Given the description of an element on the screen output the (x, y) to click on. 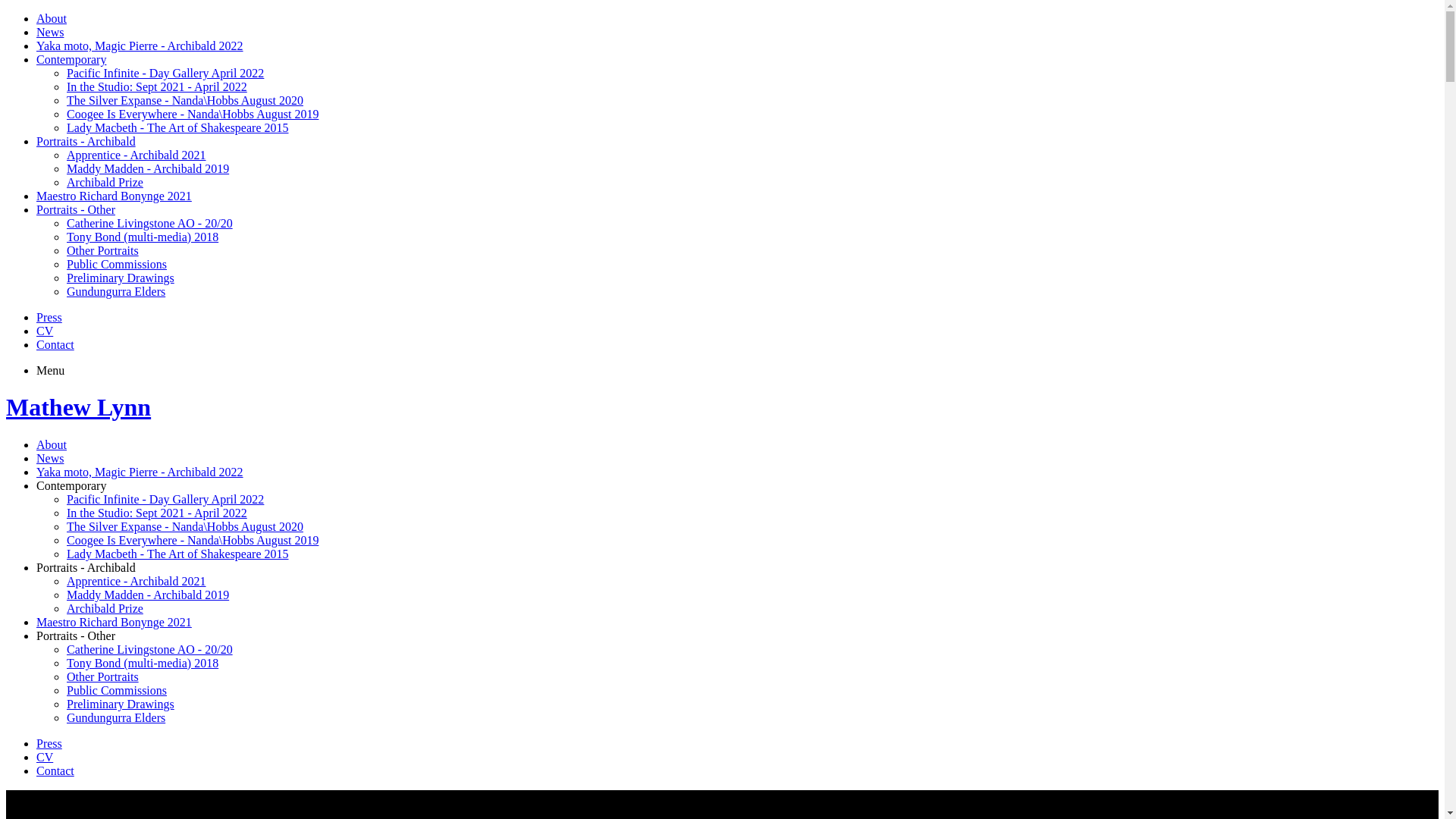
About Element type: text (51, 444)
Portraits - Other Element type: text (75, 209)
Pacific Infinite - Day Gallery April 2022 Element type: text (164, 72)
Portraits - Other Element type: text (75, 635)
Contemporary Element type: text (71, 59)
Public Commissions Element type: text (116, 263)
Tony Bond (multi-media) 2018 Element type: text (142, 236)
Menu Element type: text (50, 370)
Public Commissions Element type: text (116, 690)
In the Studio: Sept 2021 - April 2022 Element type: text (156, 512)
Gundungurra Elders Element type: text (115, 291)
Contemporary Element type: text (71, 485)
CV Element type: text (44, 330)
The Silver Expanse - Nanda\Hobbs August 2020 Element type: text (184, 100)
Other Portraits Element type: text (102, 676)
Mathew Lynn Element type: text (78, 406)
Other Portraits Element type: text (102, 250)
Catherine Livingstone AO - 20/20 Element type: text (149, 222)
Coogee Is Everywhere - Nanda\Hobbs August 2019 Element type: text (192, 539)
Preliminary Drawings Element type: text (120, 277)
Press Element type: text (49, 316)
Maestro Richard Bonynge 2021 Element type: text (113, 621)
Portraits - Archibald Element type: text (85, 140)
In the Studio: Sept 2021 - April 2022 Element type: text (156, 86)
Apprentice - Archibald 2021 Element type: text (136, 580)
Lady Macbeth - The Art of Shakespeare 2015 Element type: text (177, 553)
Gundungurra Elders Element type: text (115, 717)
Coogee Is Everywhere - Nanda\Hobbs August 2019 Element type: text (192, 113)
Maddy Madden - Archibald 2019 Element type: text (147, 168)
News Element type: text (49, 31)
Archibald Prize Element type: text (104, 608)
Yaka moto, Magic Pierre - Archibald 2022 Element type: text (139, 471)
Catherine Livingstone AO - 20/20 Element type: text (149, 649)
The Silver Expanse - Nanda\Hobbs August 2020 Element type: text (184, 526)
Preliminary Drawings Element type: text (120, 703)
Contact Element type: text (55, 770)
About Element type: text (51, 18)
CV Element type: text (44, 756)
Maestro Richard Bonynge 2021 Element type: text (113, 195)
Archibald Prize Element type: text (104, 181)
Maddy Madden - Archibald 2019 Element type: text (147, 594)
Tony Bond (multi-media) 2018 Element type: text (142, 662)
Press Element type: text (49, 743)
Contact Element type: text (55, 344)
Lady Macbeth - The Art of Shakespeare 2015 Element type: text (177, 127)
Pacific Infinite - Day Gallery April 2022 Element type: text (164, 498)
Yaka moto, Magic Pierre - Archibald 2022 Element type: text (139, 45)
Portraits - Archibald Element type: text (85, 567)
Apprentice - Archibald 2021 Element type: text (136, 154)
News Element type: text (49, 457)
